Given the description of an element on the screen output the (x, y) to click on. 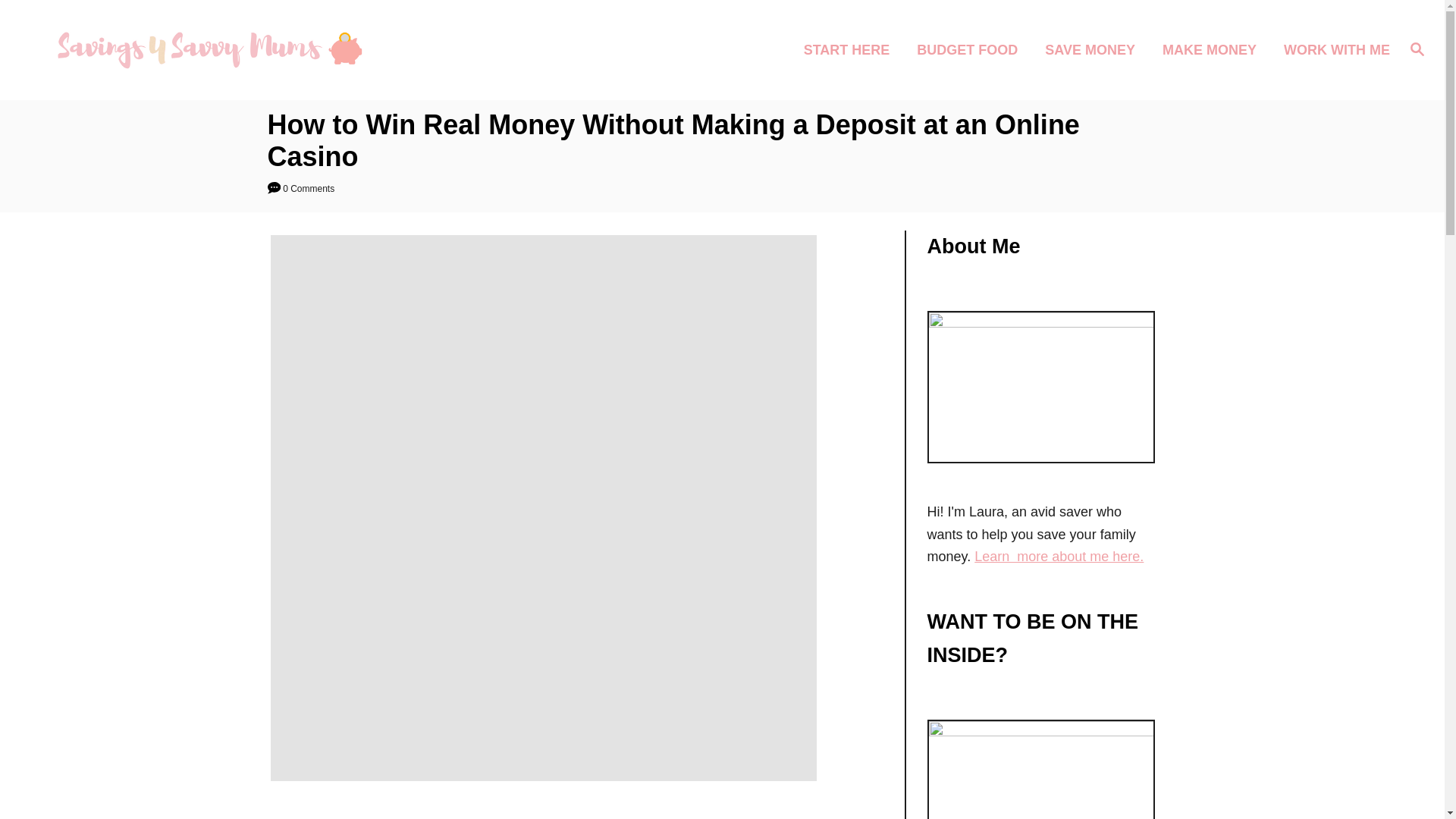
Savings 4 Savvy Mums (204, 50)
WORK WITH ME (1332, 49)
BUDGET FOOD (971, 49)
SAVE MONEY (1094, 49)
Magnifying Glass (1416, 48)
MAKE MONEY (1214, 49)
START HERE (851, 49)
Learn  more about me here. (1058, 556)
